Given the description of an element on the screen output the (x, y) to click on. 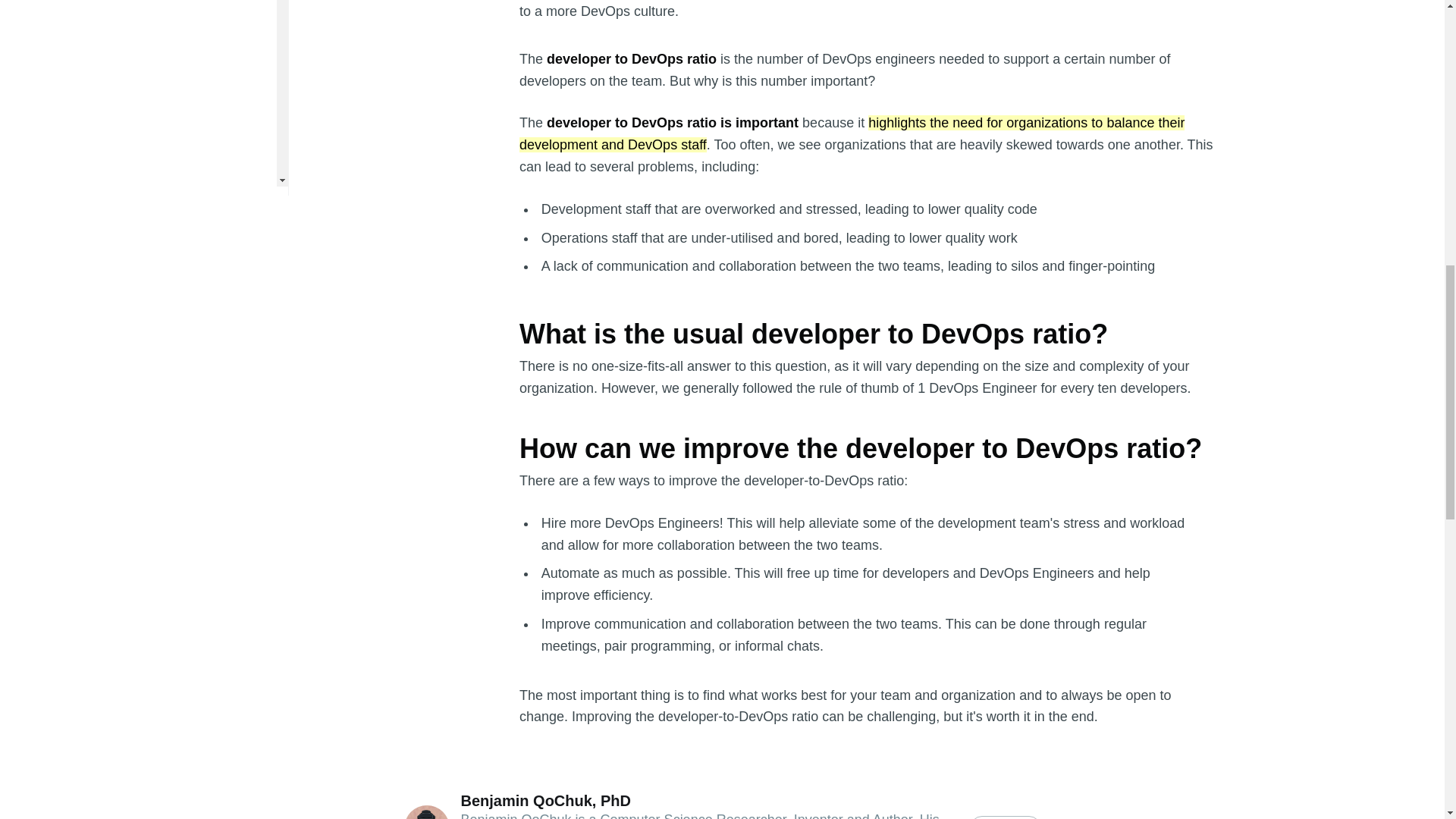
STORY: Inventor of Linked List (94, 19)
Top Secret Managers in DevOps (97, 385)
Benefits of using Kubernetes (89, 326)
Practice Interview Questions (88, 49)
Developer to DevOps engineer ratio (105, 355)
